Given the description of an element on the screen output the (x, y) to click on. 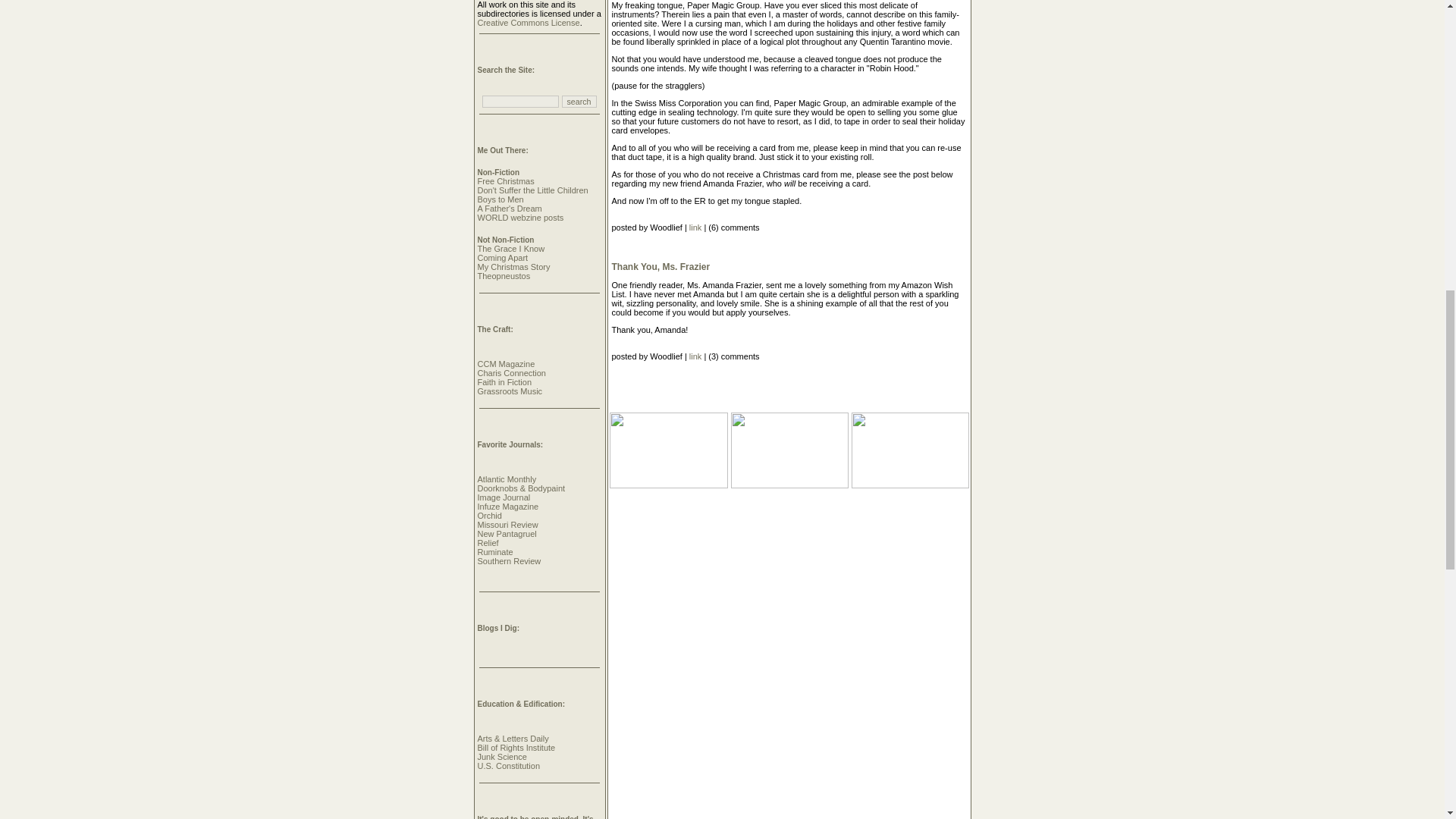
search (579, 101)
WORLD webzine posts (520, 216)
search (579, 101)
Atlantic Monthly (507, 479)
Coming Apart (502, 257)
My Christmas Story (513, 266)
The Grace I Know (510, 248)
Grassroots Music (510, 390)
Creative Commons License (528, 22)
Don't Suffer the Little Children (532, 189)
